Given the description of an element on the screen output the (x, y) to click on. 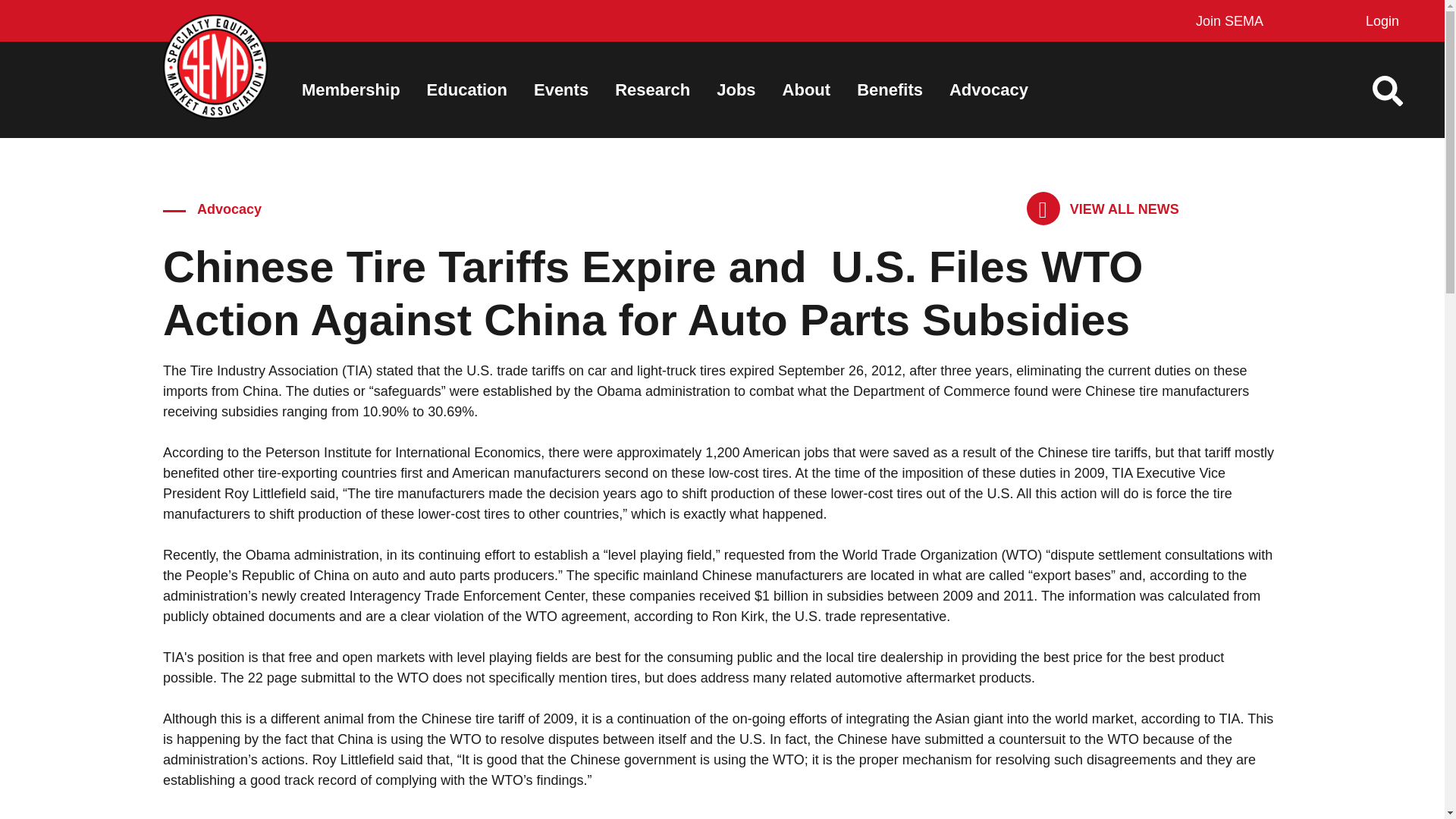
Research (652, 89)
VIEW ALL NEWS (1102, 209)
Benefits (889, 89)
Education (466, 89)
Login (1378, 20)
Advocacy (988, 89)
Search Sema.org (1401, 91)
Join SEMA (1225, 20)
eNews archive (1102, 209)
